Given the description of an element on the screen output the (x, y) to click on. 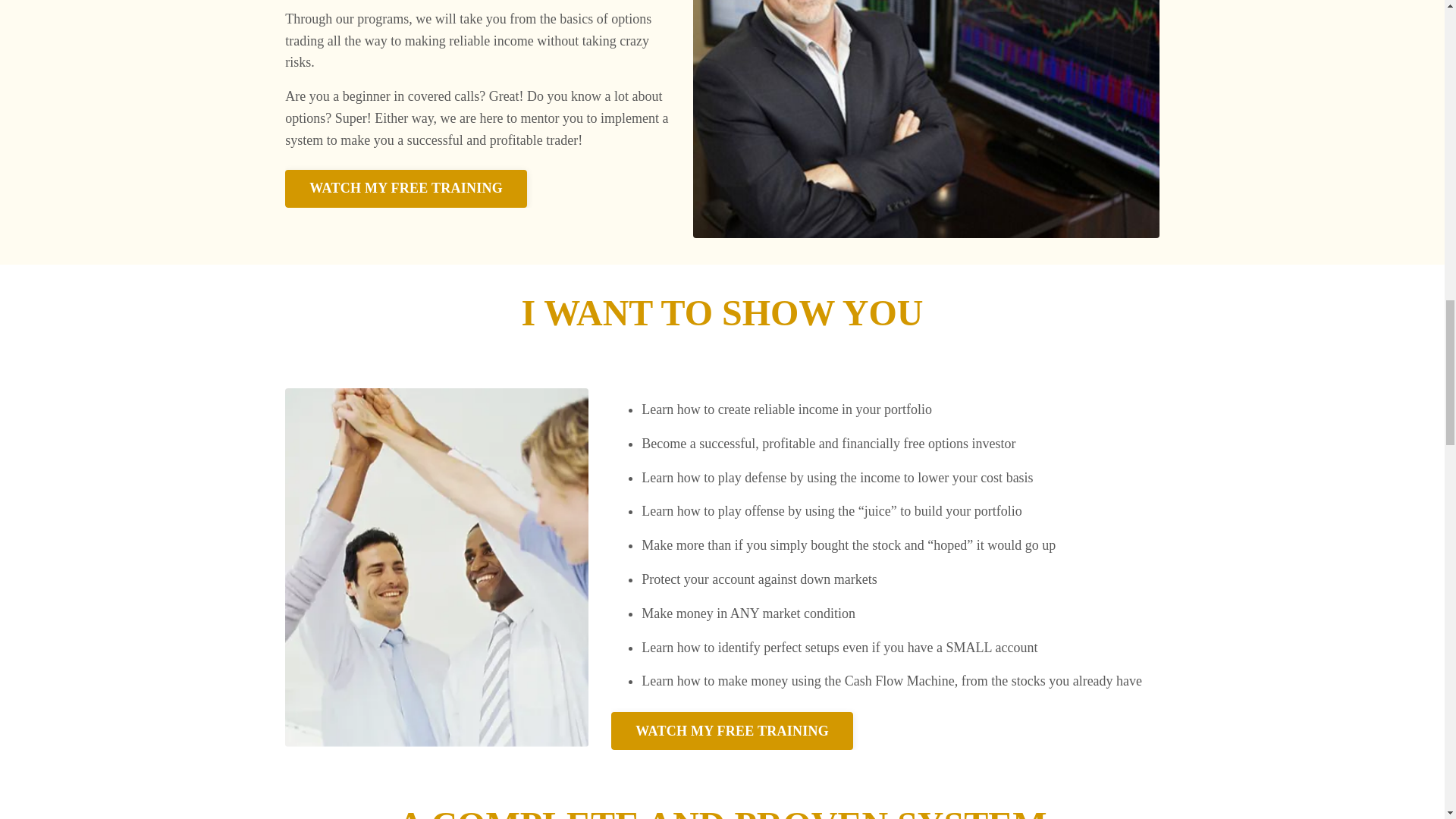
WATCH MY FREE TRAINING (732, 730)
WATCH MY FREE TRAINING (406, 188)
